Given the description of an element on the screen output the (x, y) to click on. 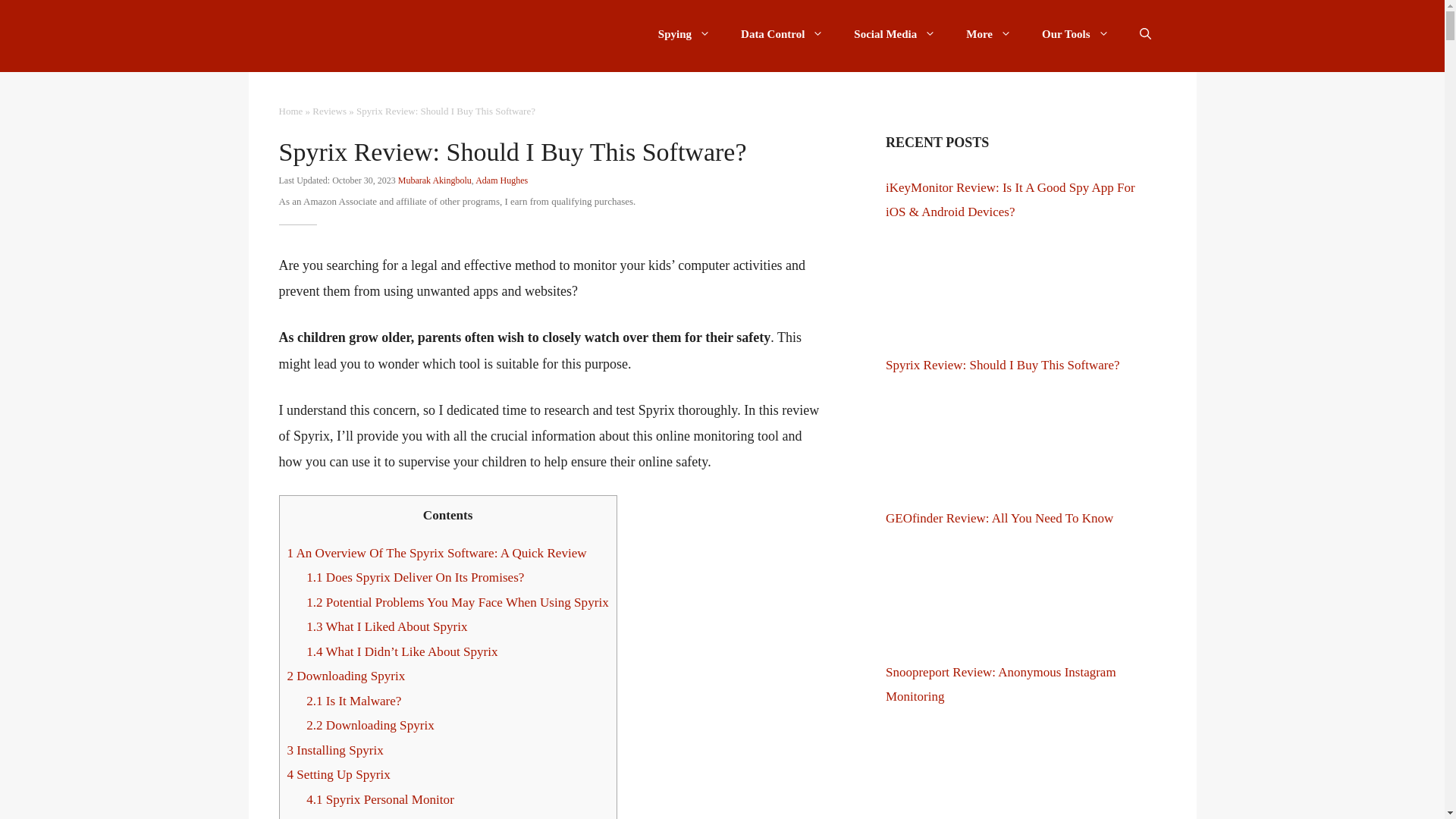
Spying (684, 33)
Mubarak Akingbolu (434, 180)
Social Media (894, 33)
Reviews (329, 111)
Mubarak Akingbolu (434, 180)
Data Control (781, 33)
More (988, 33)
Home (290, 111)
Our Tools (1075, 33)
Adam Hughes (501, 180)
